Given the description of an element on the screen output the (x, y) to click on. 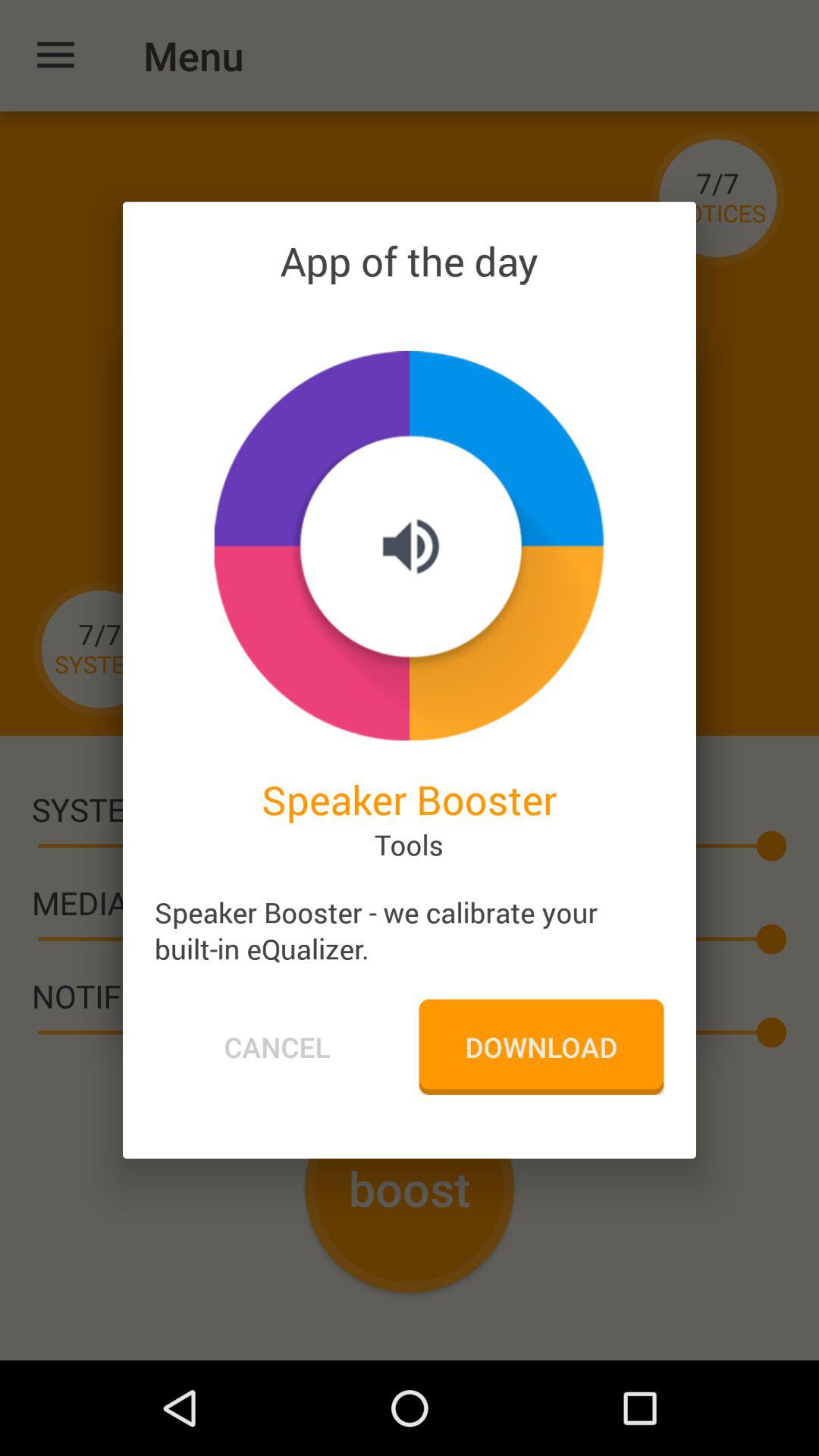
open the icon below speaker booster we item (541, 1046)
